Given the description of an element on the screen output the (x, y) to click on. 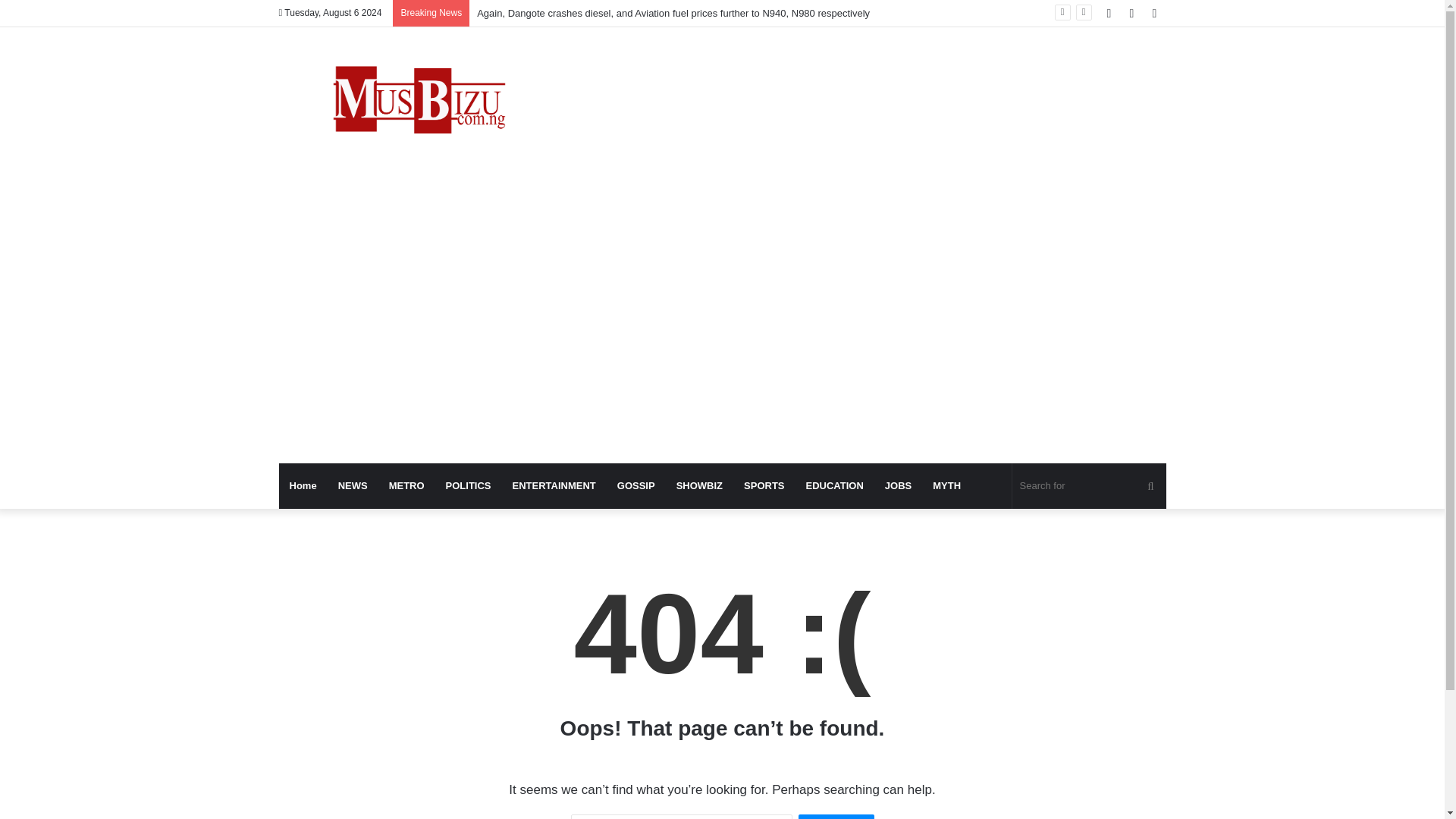
Search for (1088, 485)
MYTH (946, 485)
GOSSIP (636, 485)
POLITICS (468, 485)
Home (303, 485)
JOBS (898, 485)
Search (835, 816)
Musbizu (419, 103)
METRO (406, 485)
Search (835, 816)
SPORTS (763, 485)
SHOWBIZ (699, 485)
NEWS (352, 485)
